Given the description of an element on the screen output the (x, y) to click on. 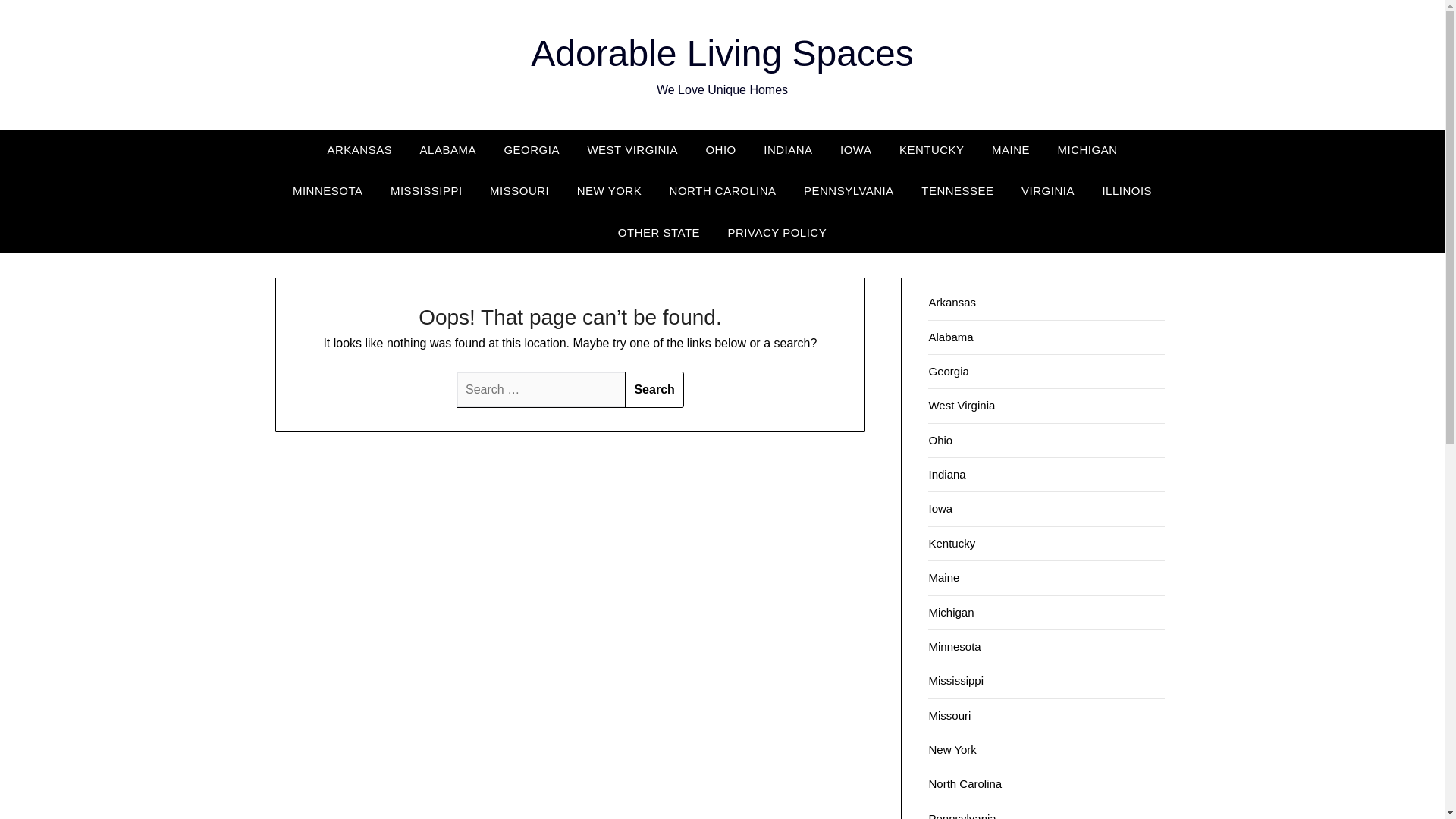
PENNSYLVANIA (848, 190)
Michigan (951, 611)
MINNESOTA (328, 190)
IOWA (855, 149)
MISSOURI (518, 190)
MAINE (1010, 149)
OHIO (720, 149)
Search (653, 389)
Missouri (949, 715)
ALABAMA (447, 149)
